Given the description of an element on the screen output the (x, y) to click on. 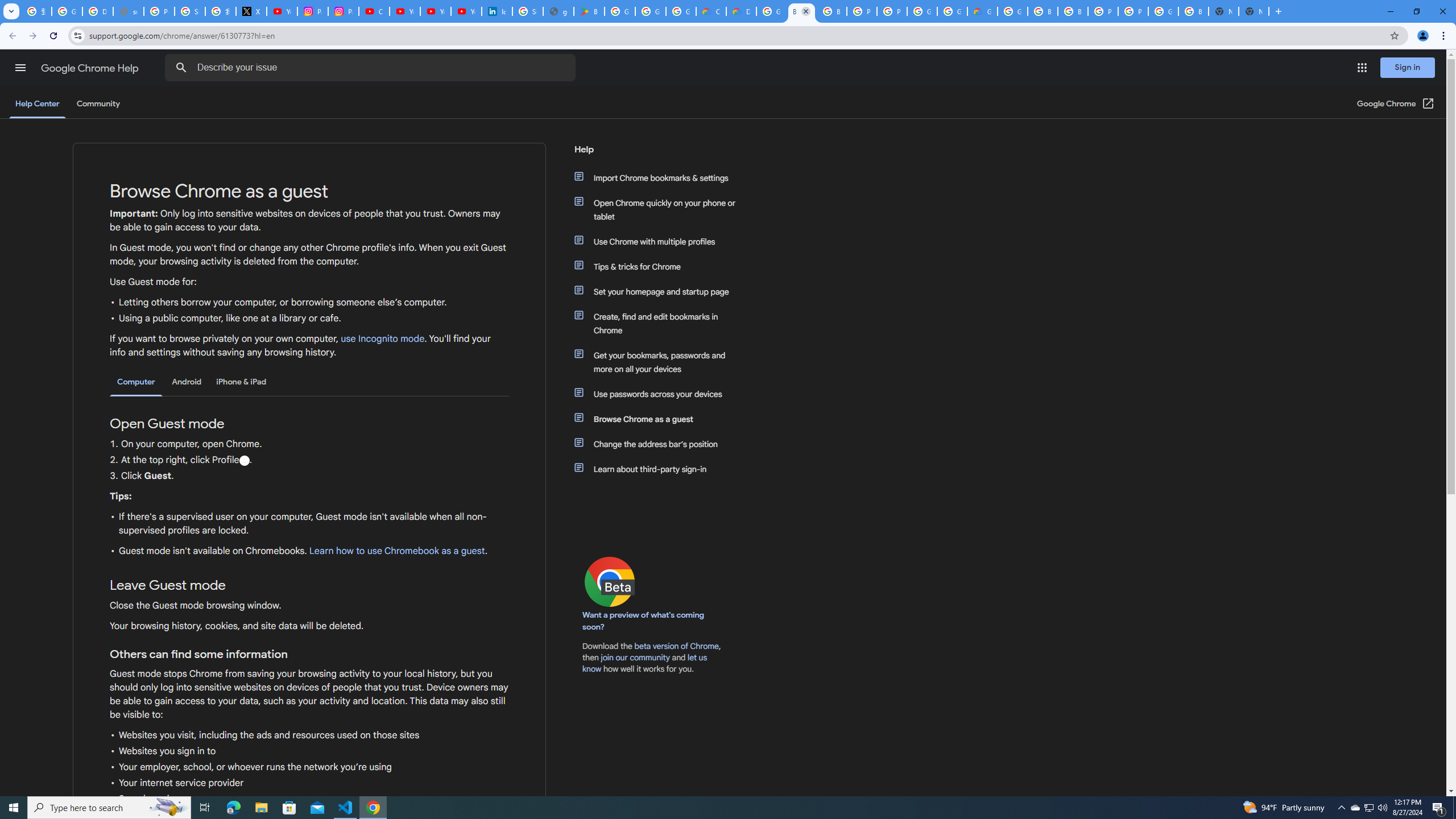
Google Chrome (Open in a new window) (1395, 103)
X (251, 11)
Open Chrome quickly on your phone or tablet (661, 209)
Google Cloud Platform (1162, 11)
Use passwords across your devices (661, 394)
Chrome Beta logo (609, 581)
Privacy Help Center - Policies Help (158, 11)
support.google.com - Network error (127, 11)
